Given the description of an element on the screen output the (x, y) to click on. 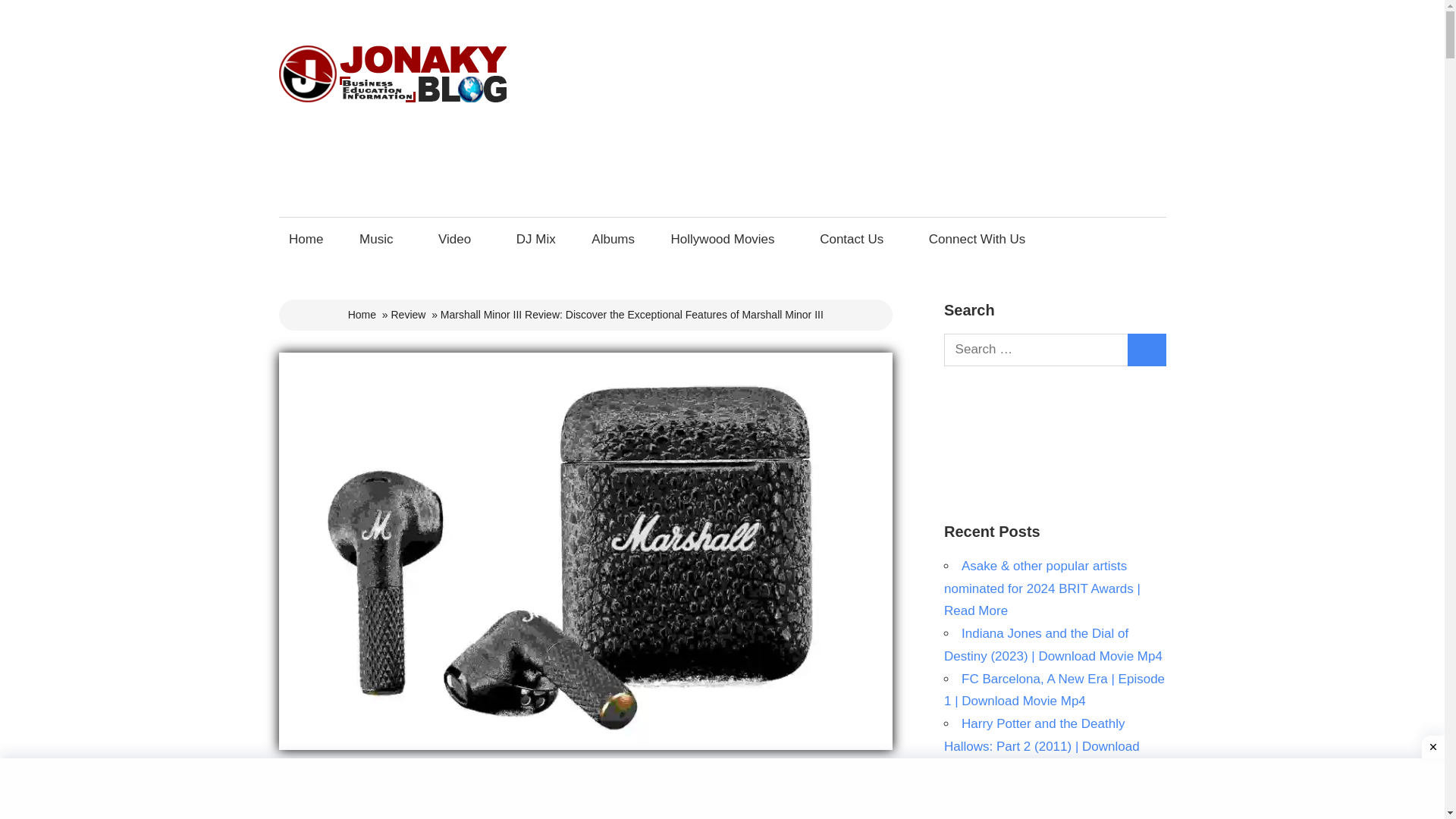
Connect With Us (981, 239)
Review (296, 777)
Music (380, 239)
Albums (612, 239)
Review (407, 314)
DJ Mix (535, 239)
Go to Home. (361, 314)
6:12 pm (310, 777)
Hollywood Movies (727, 239)
Video (458, 239)
Contact Us (855, 239)
Search for: (1035, 349)
July 25, 2023 (310, 777)
